Given the description of an element on the screen output the (x, y) to click on. 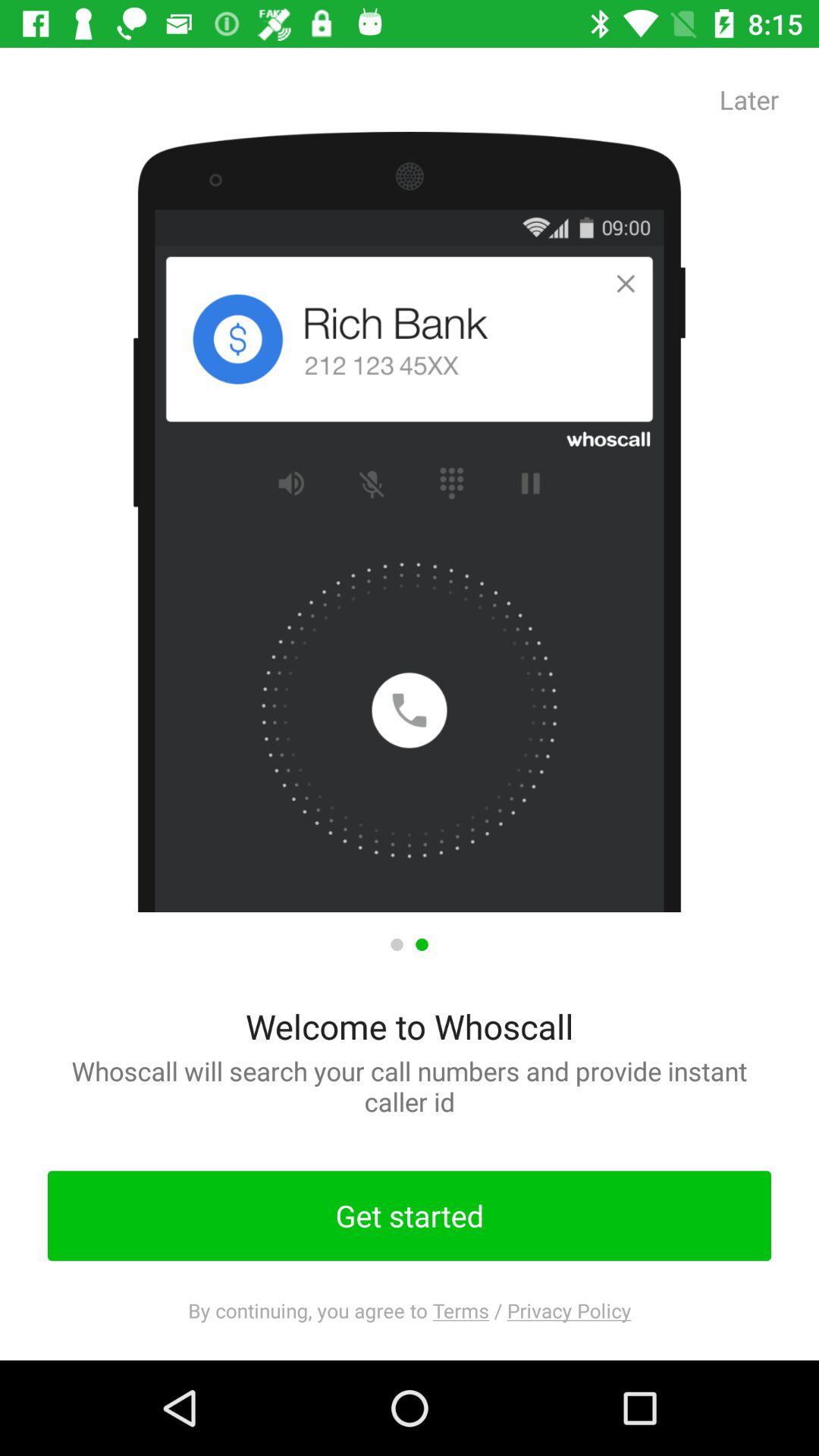
tap get started (409, 1215)
